Given the description of an element on the screen output the (x, y) to click on. 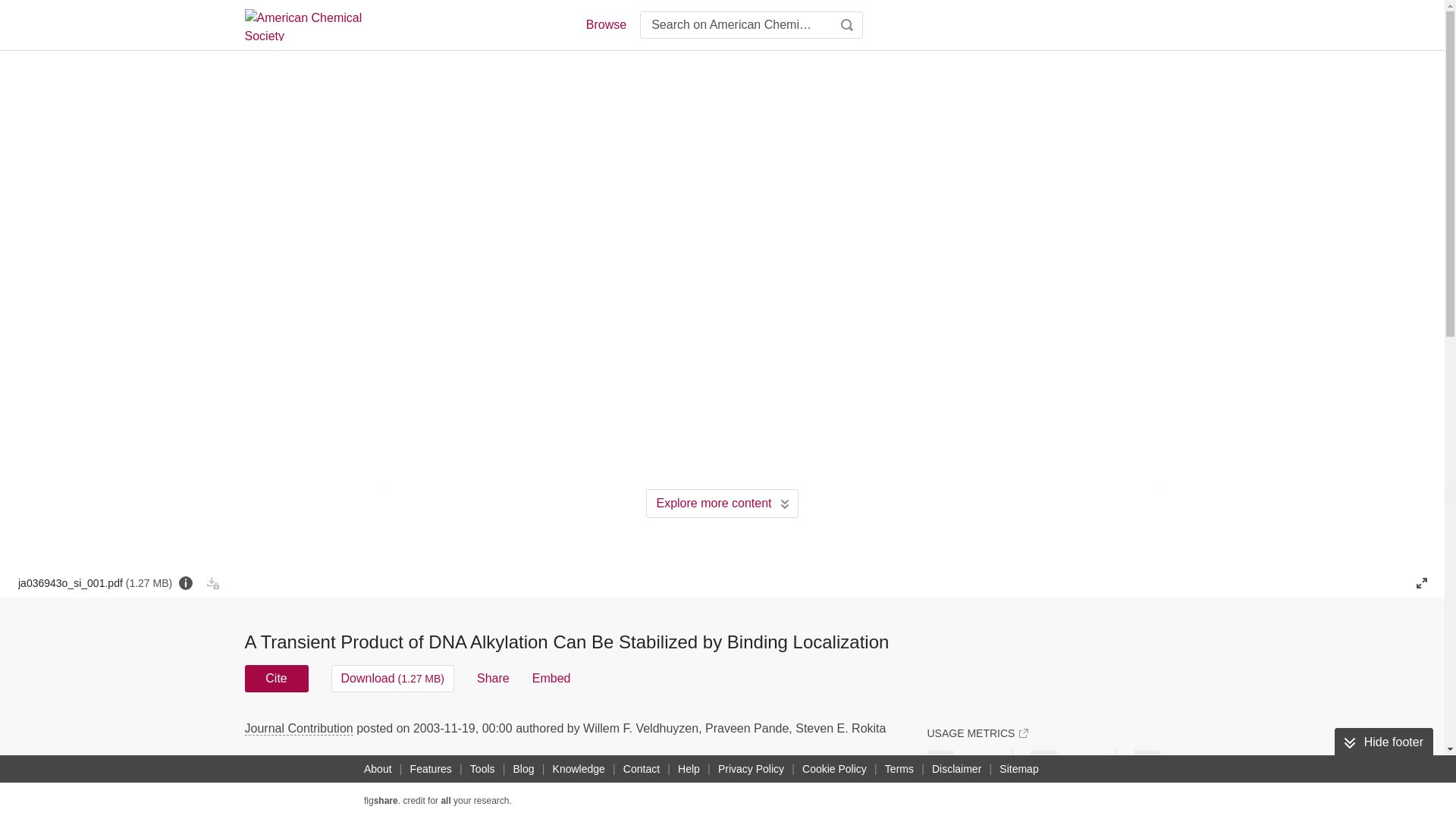
Cite (275, 678)
Share (493, 678)
Browse (605, 24)
Explore more content (721, 502)
Embed (551, 678)
USAGE METRICS (976, 732)
